Given the description of an element on the screen output the (x, y) to click on. 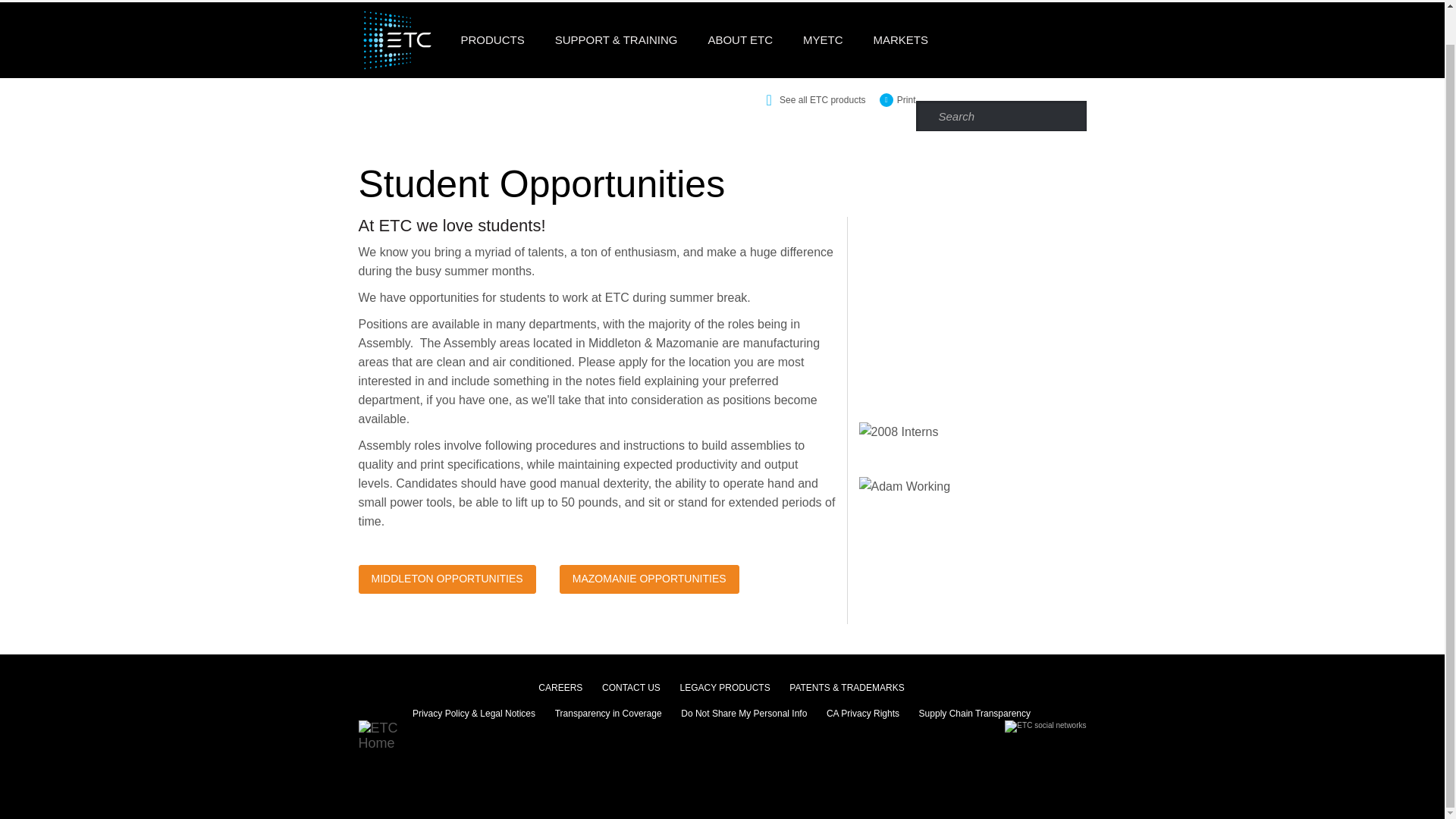
Learn More (649, 579)
Student Opportunities 1 (972, 302)
ABOUT ETC (740, 39)
Careers (560, 685)
PRODUCTS (492, 39)
Adam Working (904, 486)
CA Privacy Rights (863, 711)
Contact Us (631, 685)
Legacy Products (724, 685)
